Given the description of an element on the screen output the (x, y) to click on. 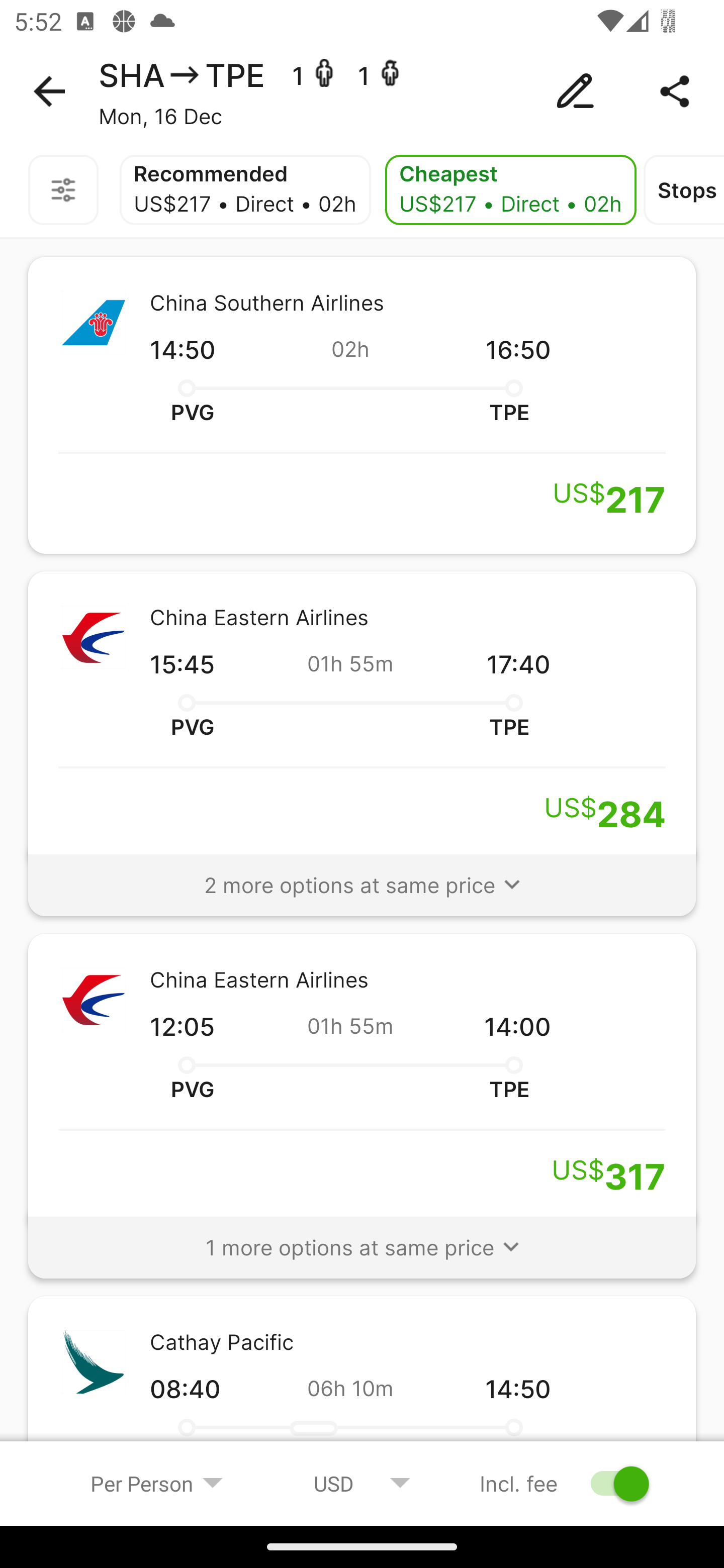
SHA TPE   1 -   1 - Mon, 16 Dec (361, 91)
Recommended  US$217 • Direct • 02h (244, 190)
Cheapest US$217 • Direct • 02h (510, 190)
Stops (683, 190)
China Southern Airlines 14:50 02h 16:50 PVG TPE (361, 405)
China Eastern Airlines 15:45 01h 55m 17:40 PVG TPE (361, 719)
2 more options at same price (361, 876)
China Eastern Airlines 12:05 01h 55m 14:00 PVG TPE (361, 1082)
1 more options at same price (361, 1238)
Cathay Pacific 08:40 06h 10m 14:50 PVG HKG TPE (361, 1389)
Per Person (156, 1482)
USD (361, 1482)
